Given the description of an element on the screen output the (x, y) to click on. 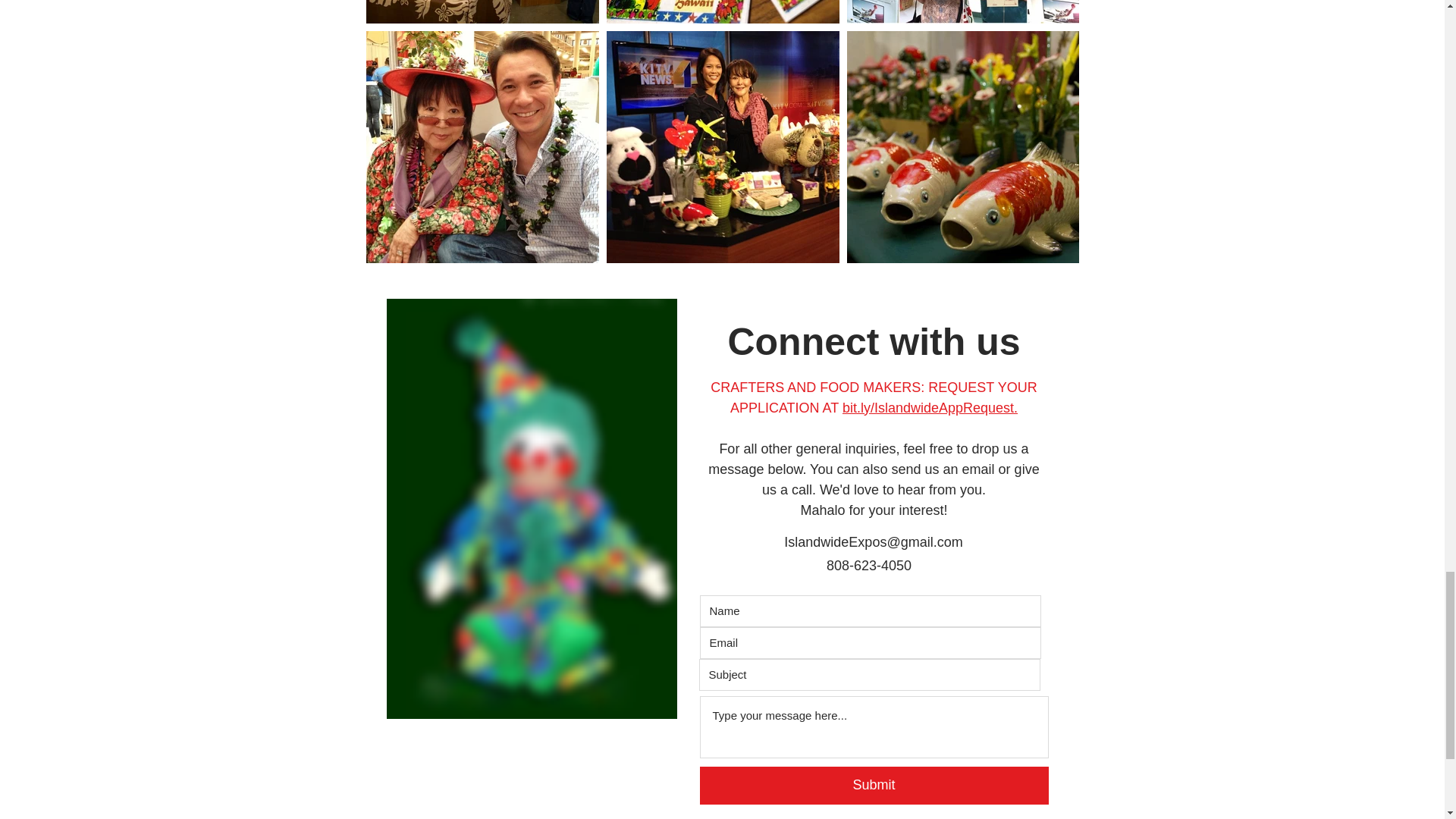
Submit (873, 785)
